Given the description of an element on the screen output the (x, y) to click on. 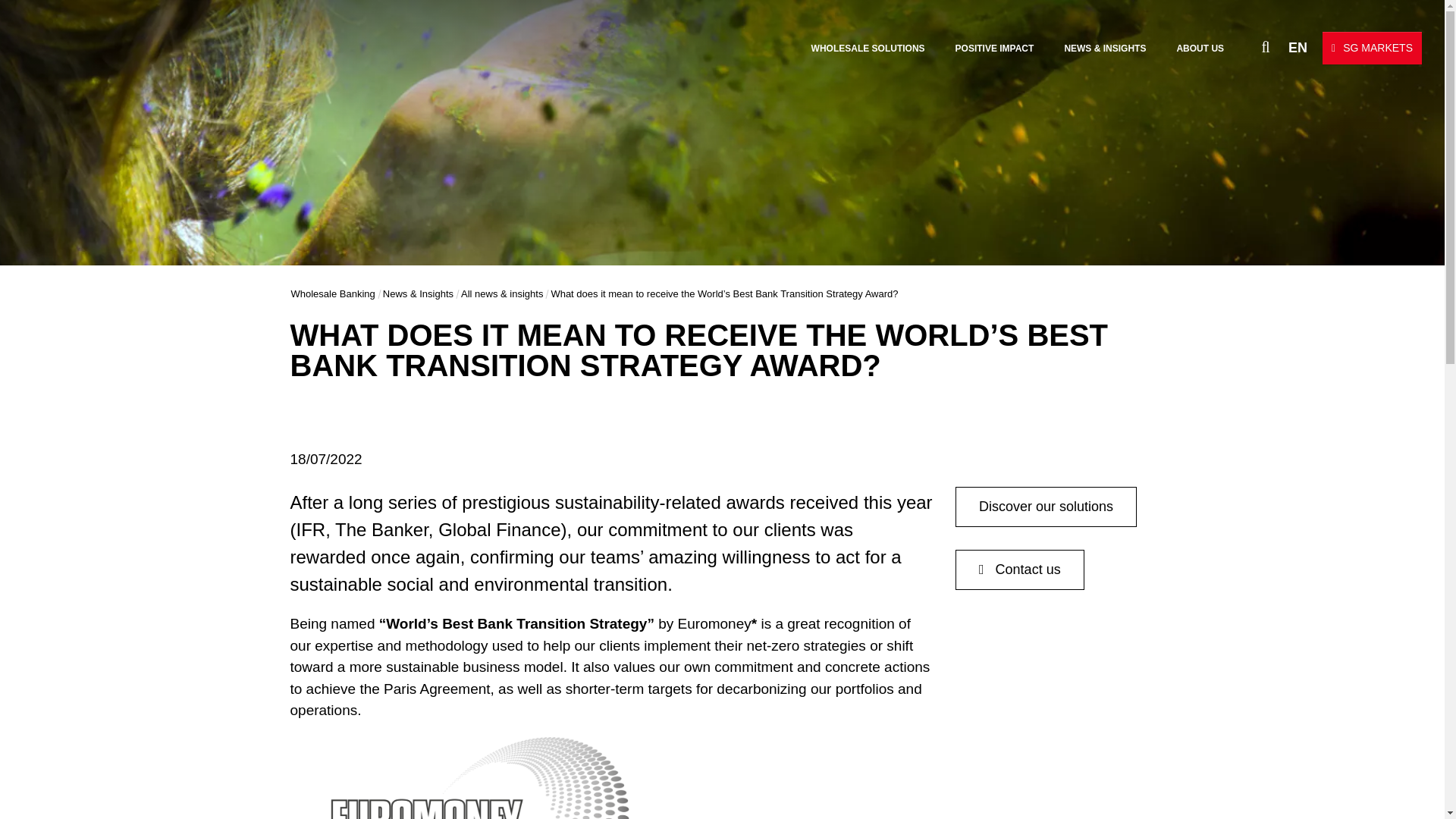
Client access to : SG MARKETS  (1372, 47)
POSITIVE IMPACT (994, 48)
Search with Quantum (1238, 45)
ABOUT US (1200, 48)
WHOLESALE SOLUTIONS (867, 48)
